Given the description of an element on the screen output the (x, y) to click on. 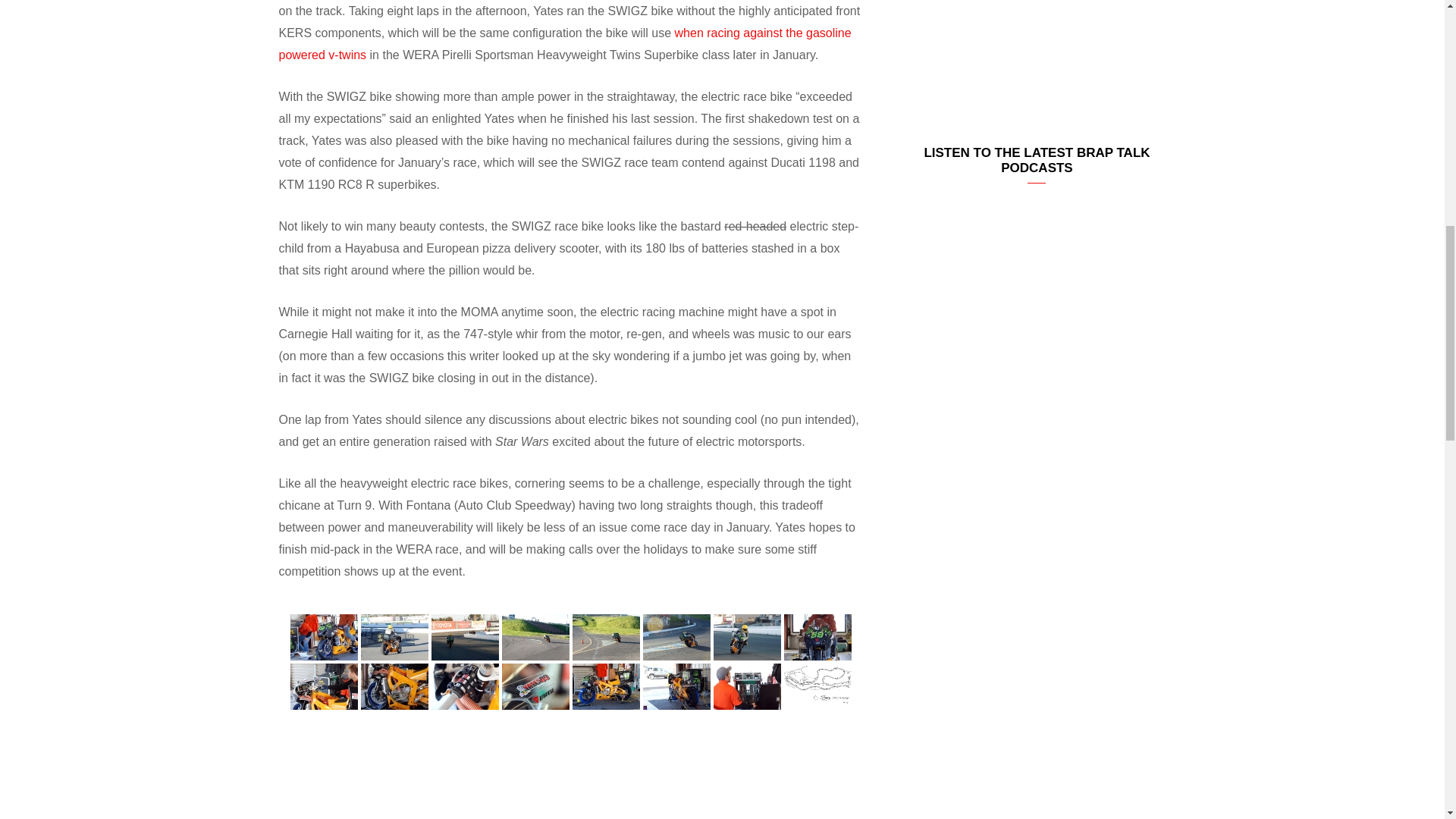
when racing against the gasoline powered v-twins (565, 43)
